Given the description of an element on the screen output the (x, y) to click on. 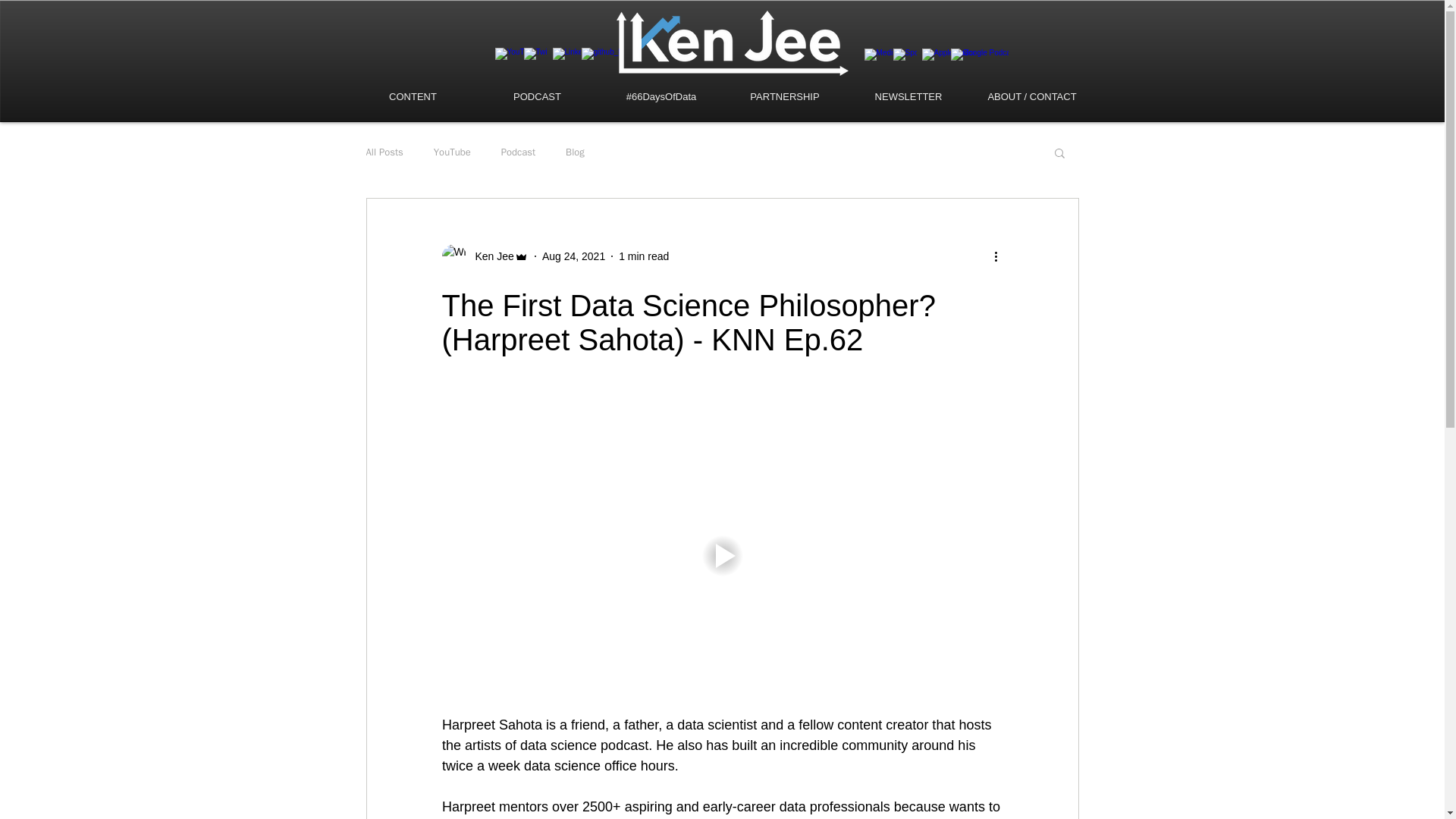
CONTENT (412, 96)
All Posts (384, 151)
PARTNERSHIP (785, 96)
PODCAST (536, 96)
Podcast (517, 151)
Blog (575, 151)
YouTube (451, 151)
Aug 24, 2021 (573, 256)
1 min read (643, 256)
NEWSLETTER (907, 96)
Ken Jee (489, 256)
